Given the description of an element on the screen output the (x, y) to click on. 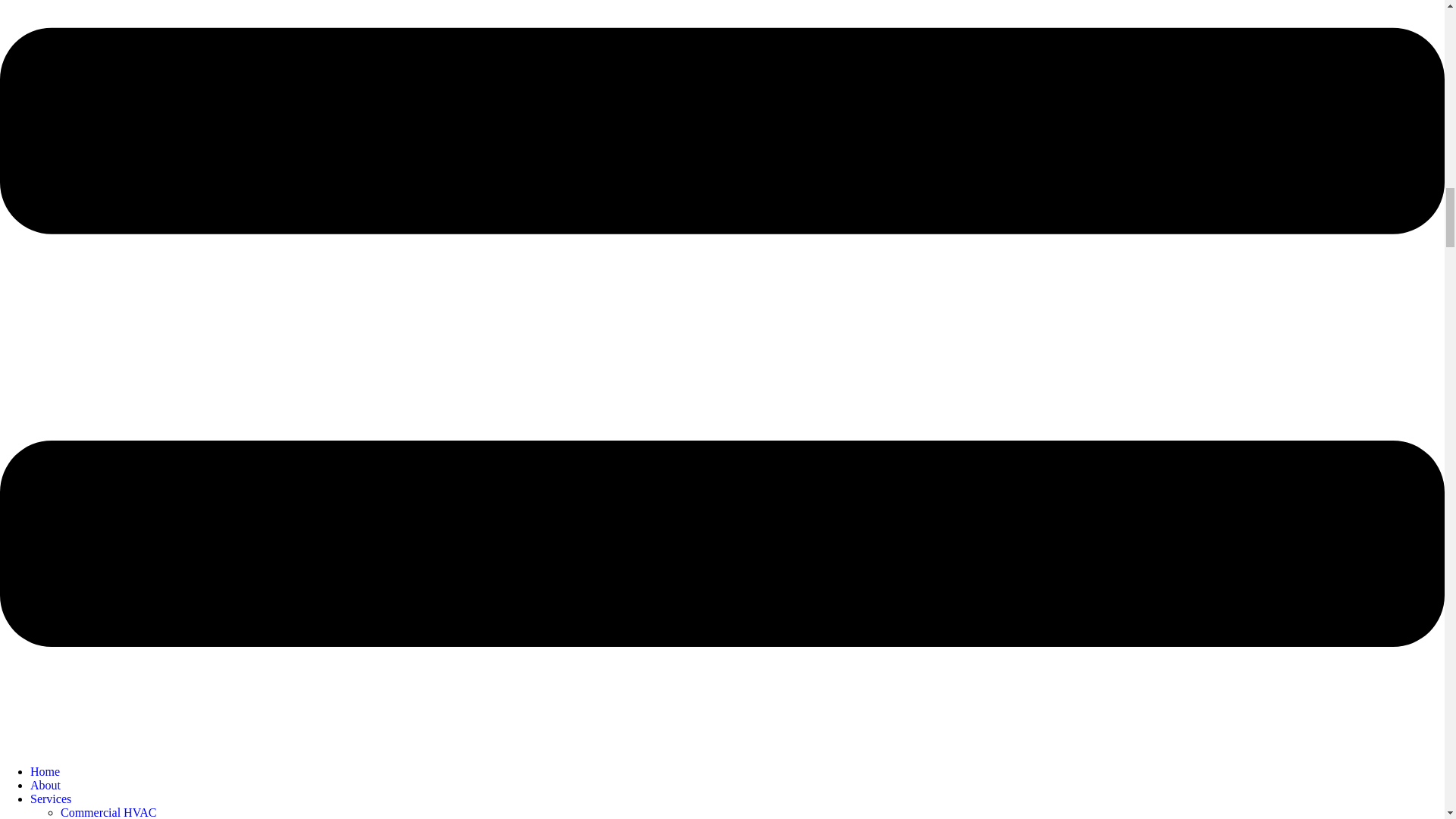
Commercial HVAC (108, 812)
Home (44, 771)
About (45, 784)
Services (50, 798)
